Given the description of an element on the screen output the (x, y) to click on. 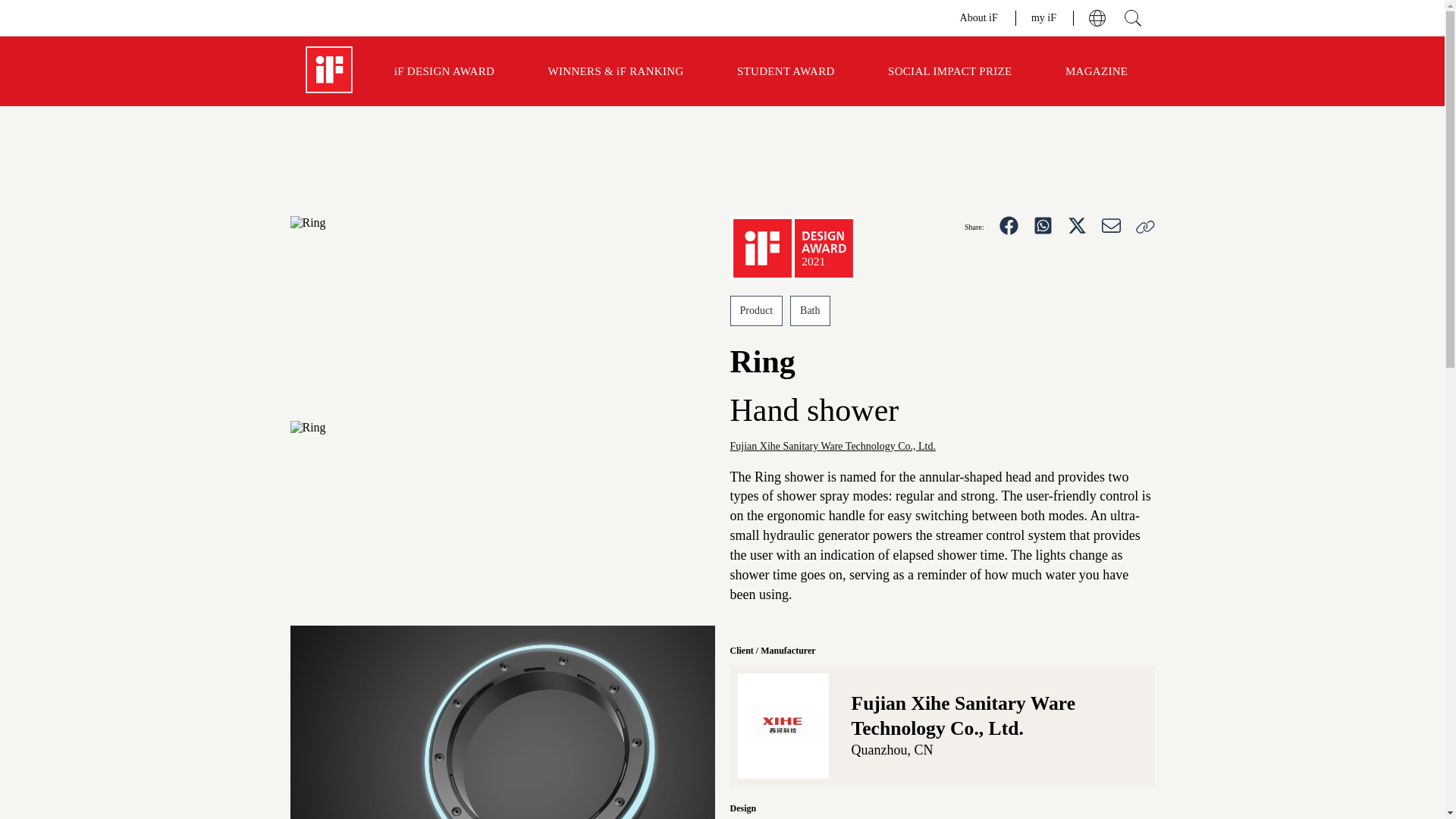
my iF (1044, 16)
2021 (791, 248)
About iF (979, 16)
